Given the description of an element on the screen output the (x, y) to click on. 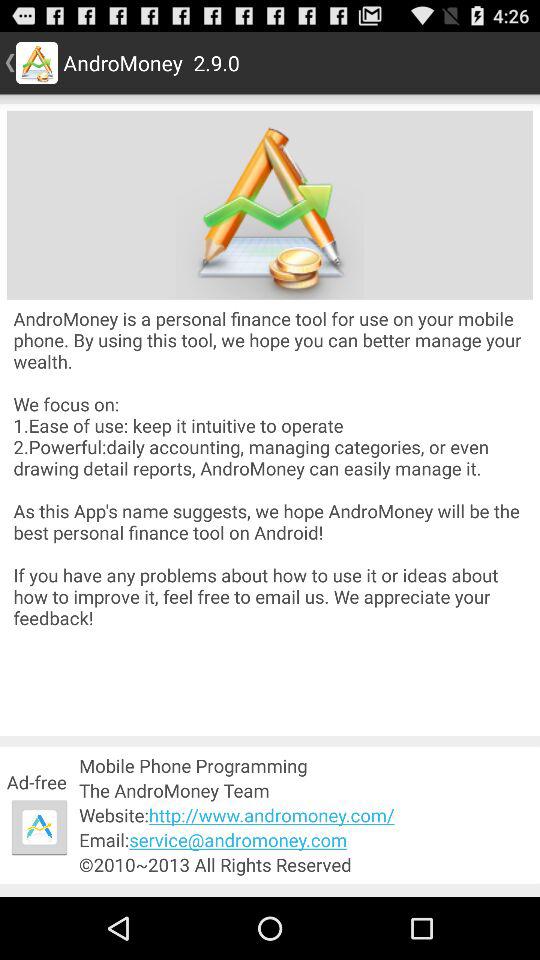
view icon (269, 204)
